Given the description of an element on the screen output the (x, y) to click on. 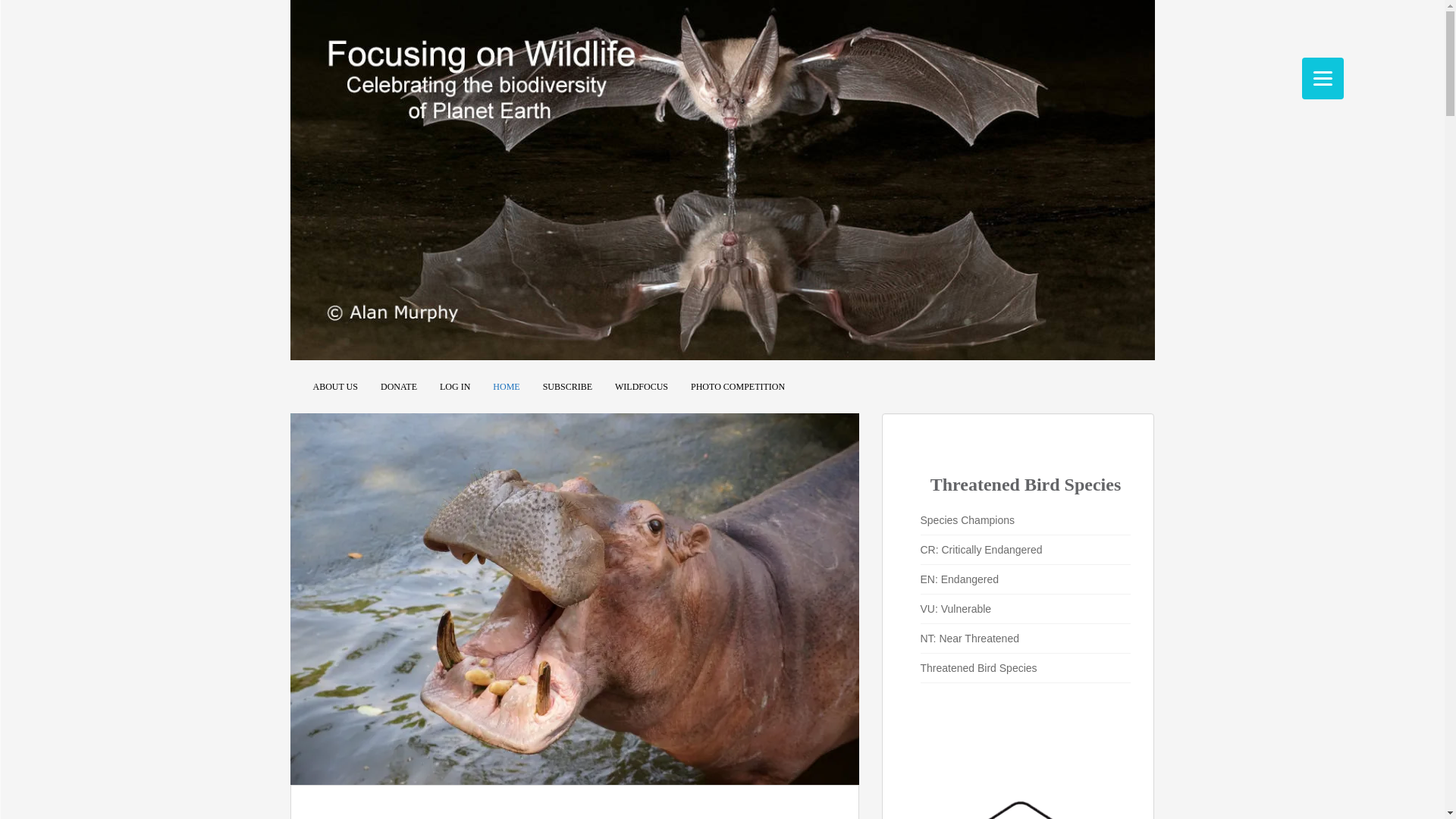
PHOTO COMPETITION (737, 386)
ABOUT US (334, 386)
HOME (506, 386)
